Given the description of an element on the screen output the (x, y) to click on. 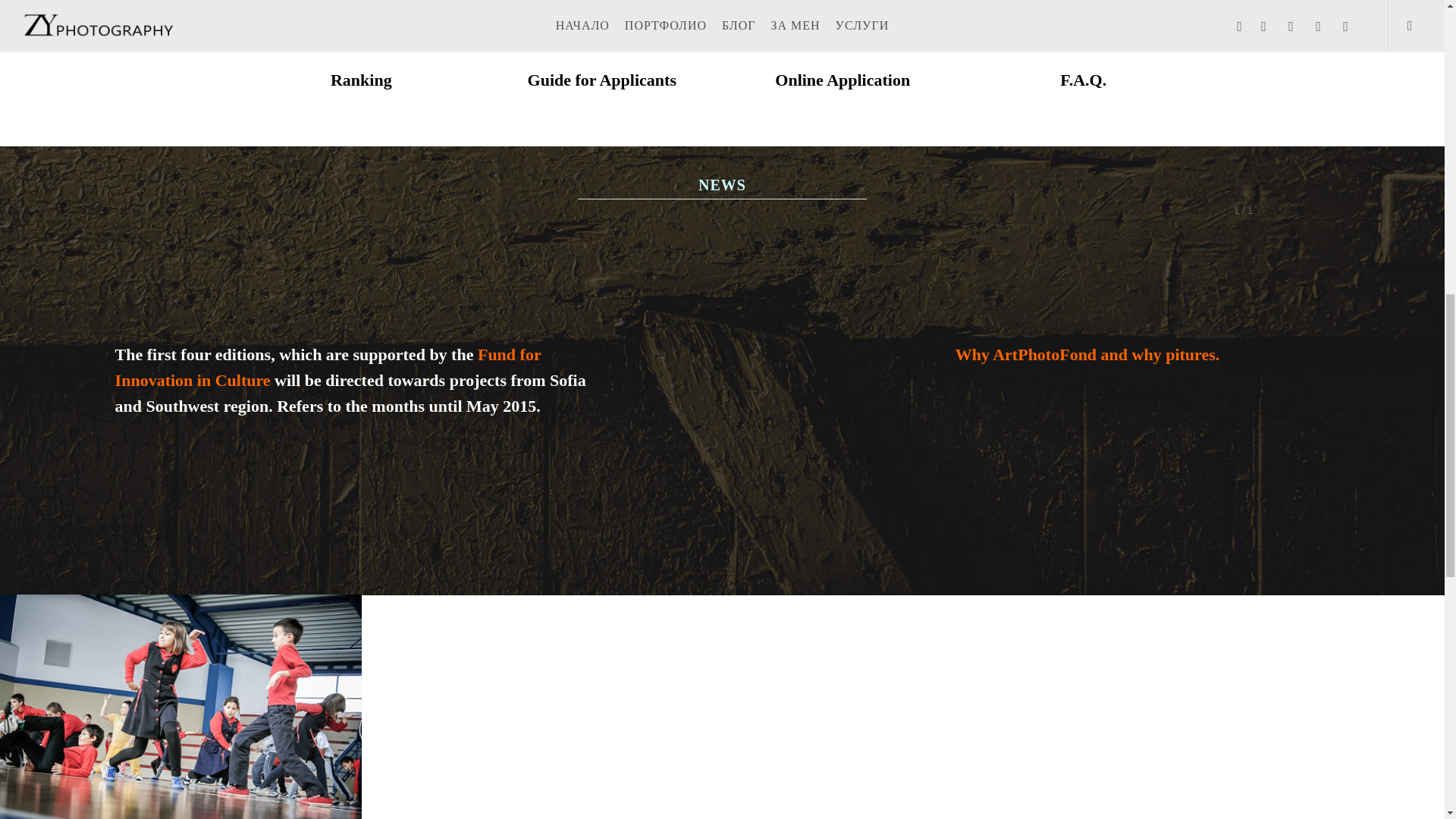
Why ArtPhotoFond and why pitures. (1087, 353)
Innovation (155, 380)
in Culture (235, 380)
Fund for (508, 353)
